Given the description of an element on the screen output the (x, y) to click on. 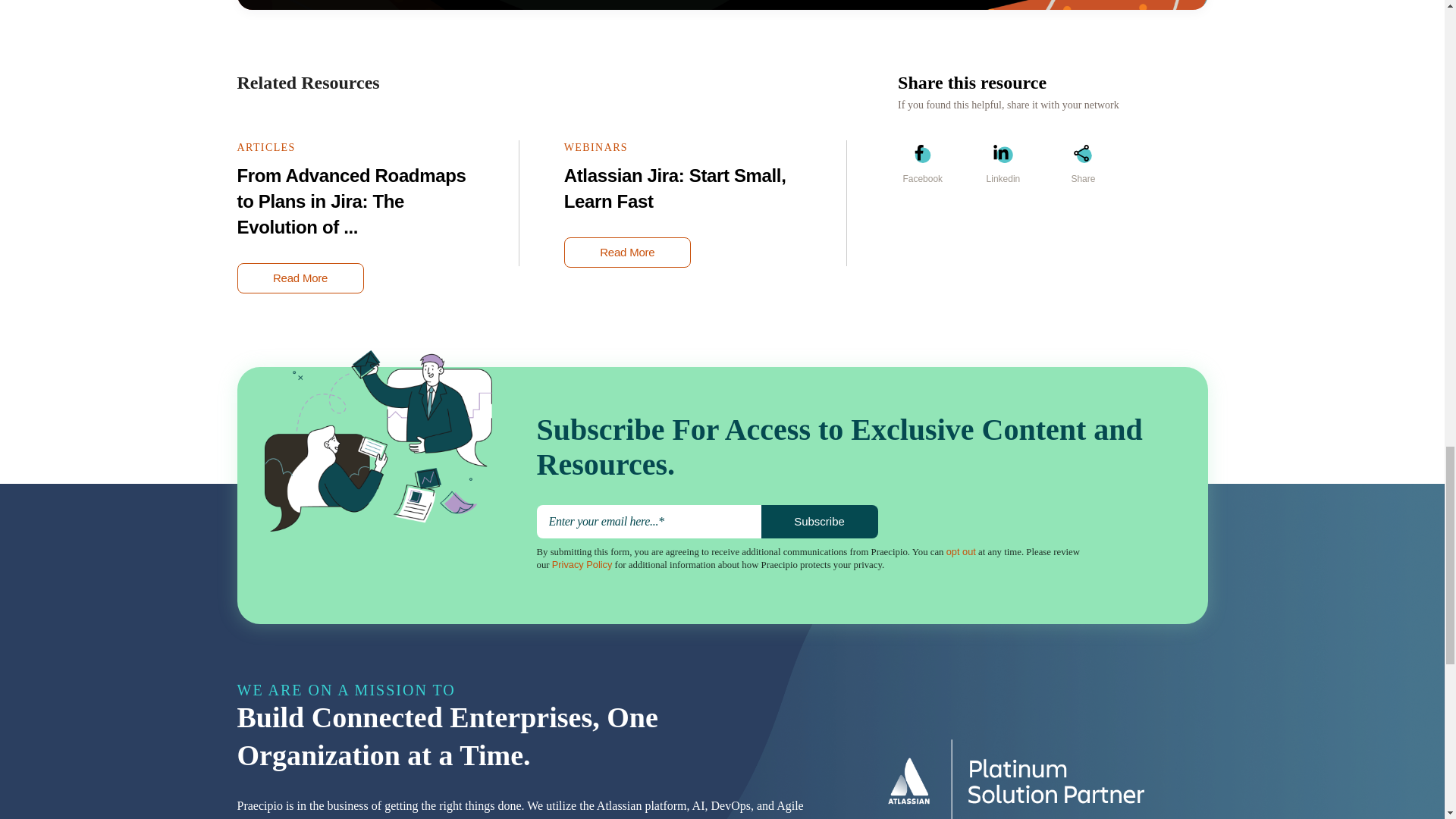
Subscribe (819, 521)
